Given the description of an element on the screen output the (x, y) to click on. 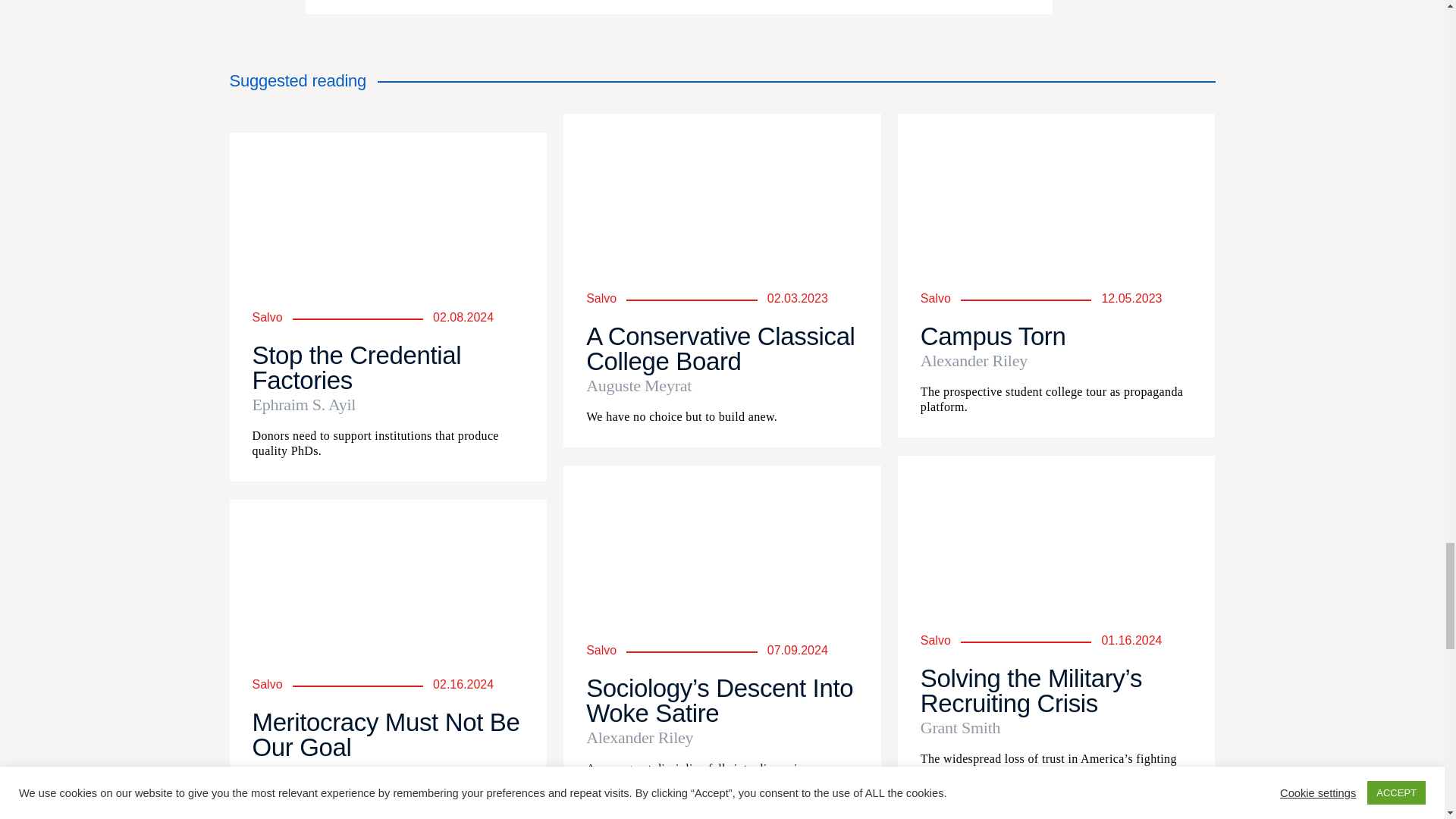
Ephraim S. Ayil (387, 404)
Campus Torn (992, 336)
Posts by Alexander Riley (1056, 360)
Posts by Ephraim S. Ayil (387, 404)
Stop the Credential Factories (356, 367)
Posts by Alexander Riley (722, 737)
Auguste Meyrat (722, 385)
Alexander Riley (722, 737)
Posts by Grant Smith (1056, 727)
Posts by Auguste Meyrat (722, 385)
